Given the description of an element on the screen output the (x, y) to click on. 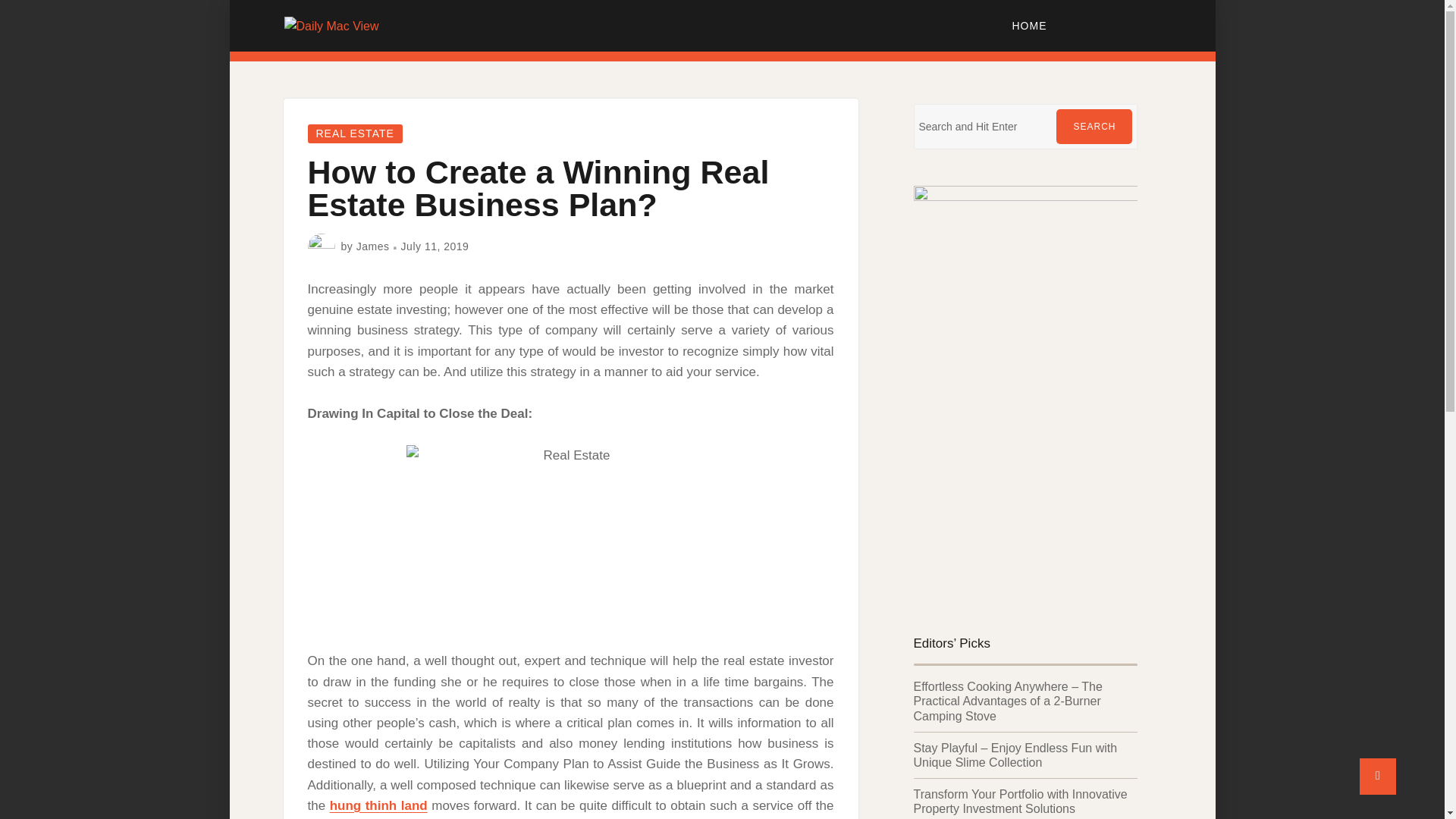
James (373, 246)
July 11, 2019 (434, 246)
hung thinh land (379, 805)
SEARCH (1094, 126)
Scroll to top (1377, 776)
REAL ESTATE (355, 133)
HOME (1030, 25)
